Given the description of an element on the screen output the (x, y) to click on. 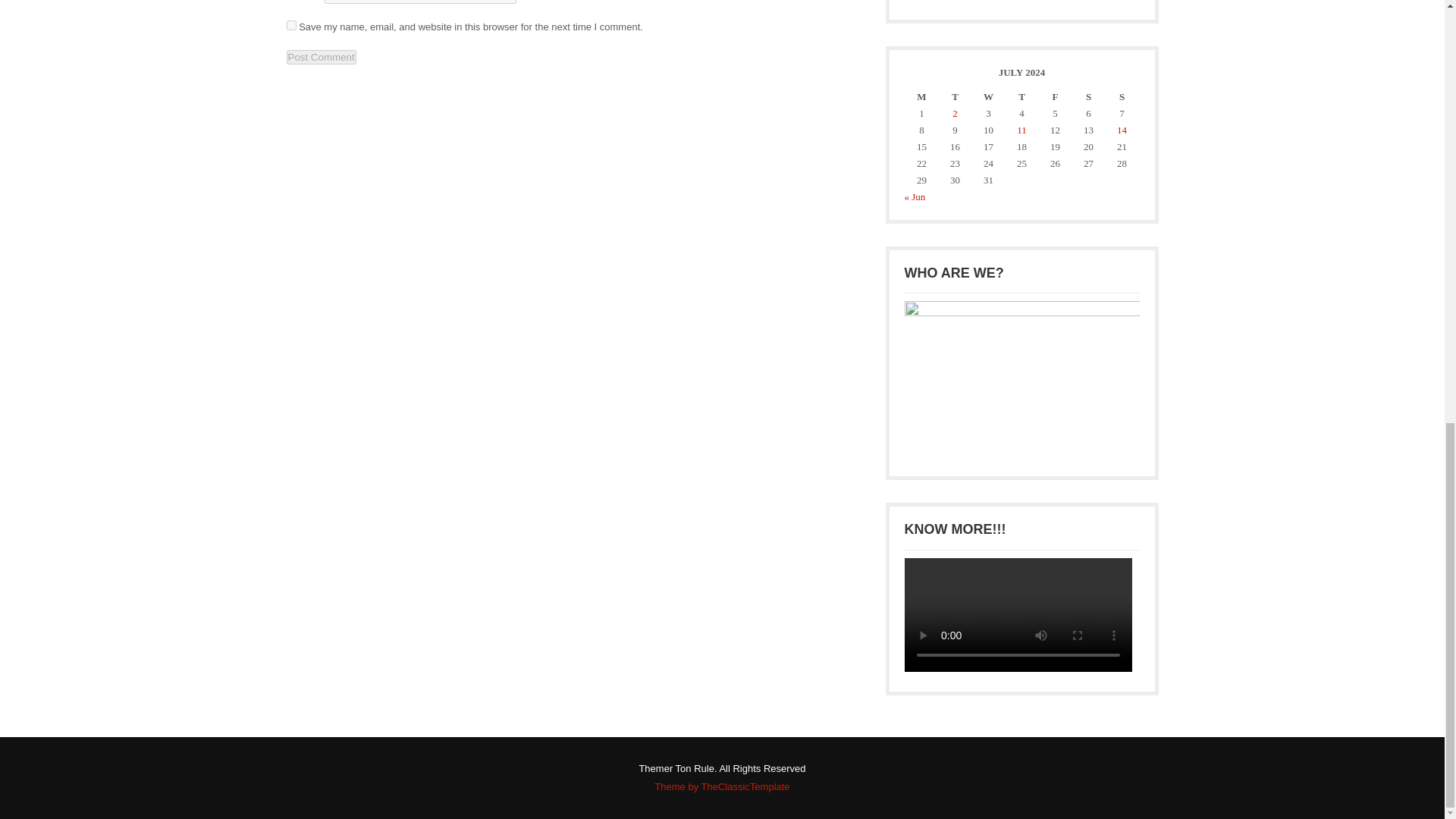
Wednesday (988, 96)
Friday (1054, 96)
14 (1121, 129)
Thursday (1021, 96)
Theme by TheClassicTemplate (721, 786)
Saturday (1087, 96)
Tuesday (955, 96)
Sunday (1121, 96)
2 (955, 112)
Post Comment (321, 56)
11 (1021, 129)
yes (291, 25)
Post Comment (321, 56)
Monday (921, 96)
